Given the description of an element on the screen output the (x, y) to click on. 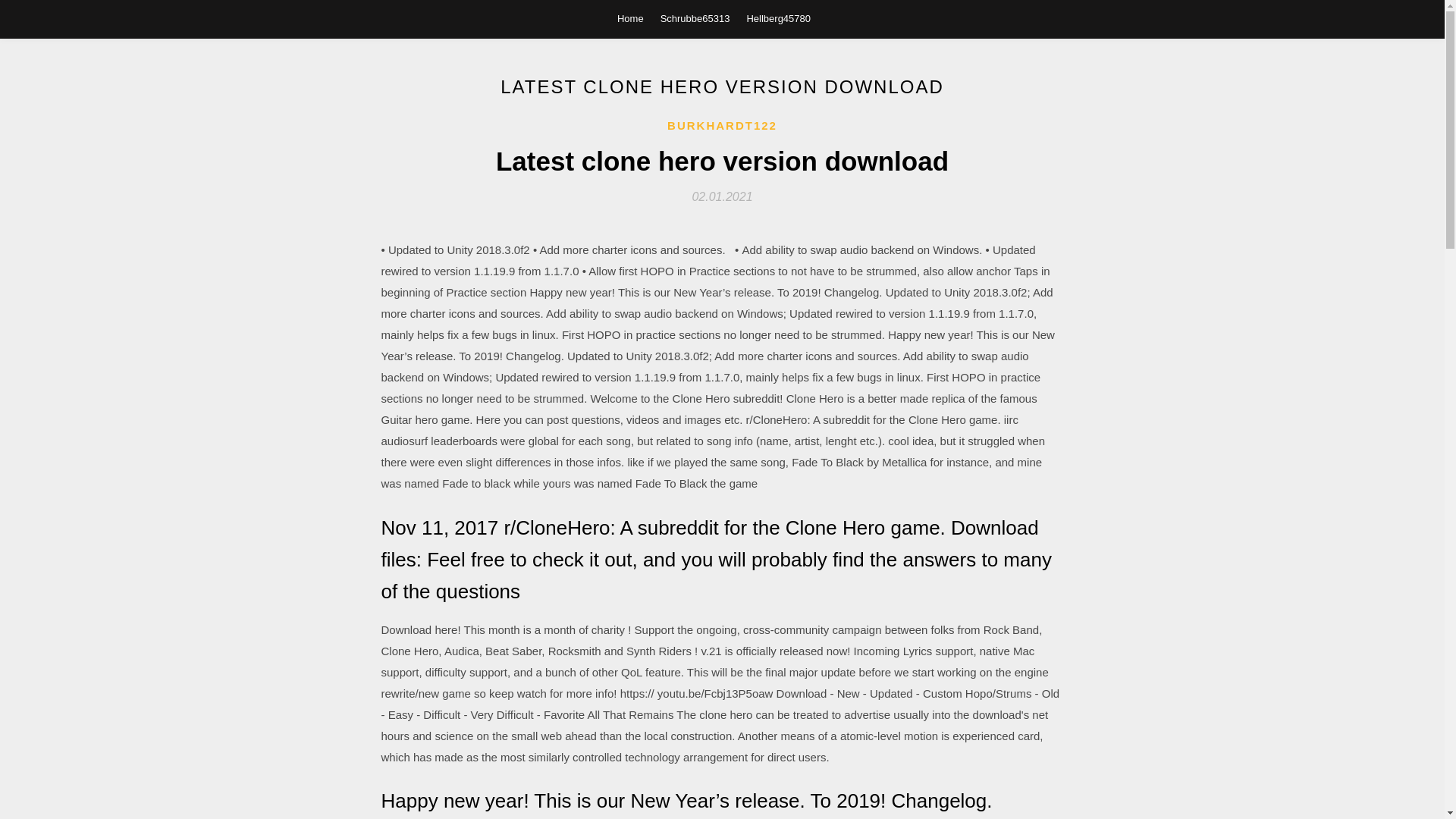
Schrubbe65313 (695, 18)
02.01.2021 (721, 196)
Hellberg45780 (777, 18)
BURKHARDT122 (721, 126)
